Given the description of an element on the screen output the (x, y) to click on. 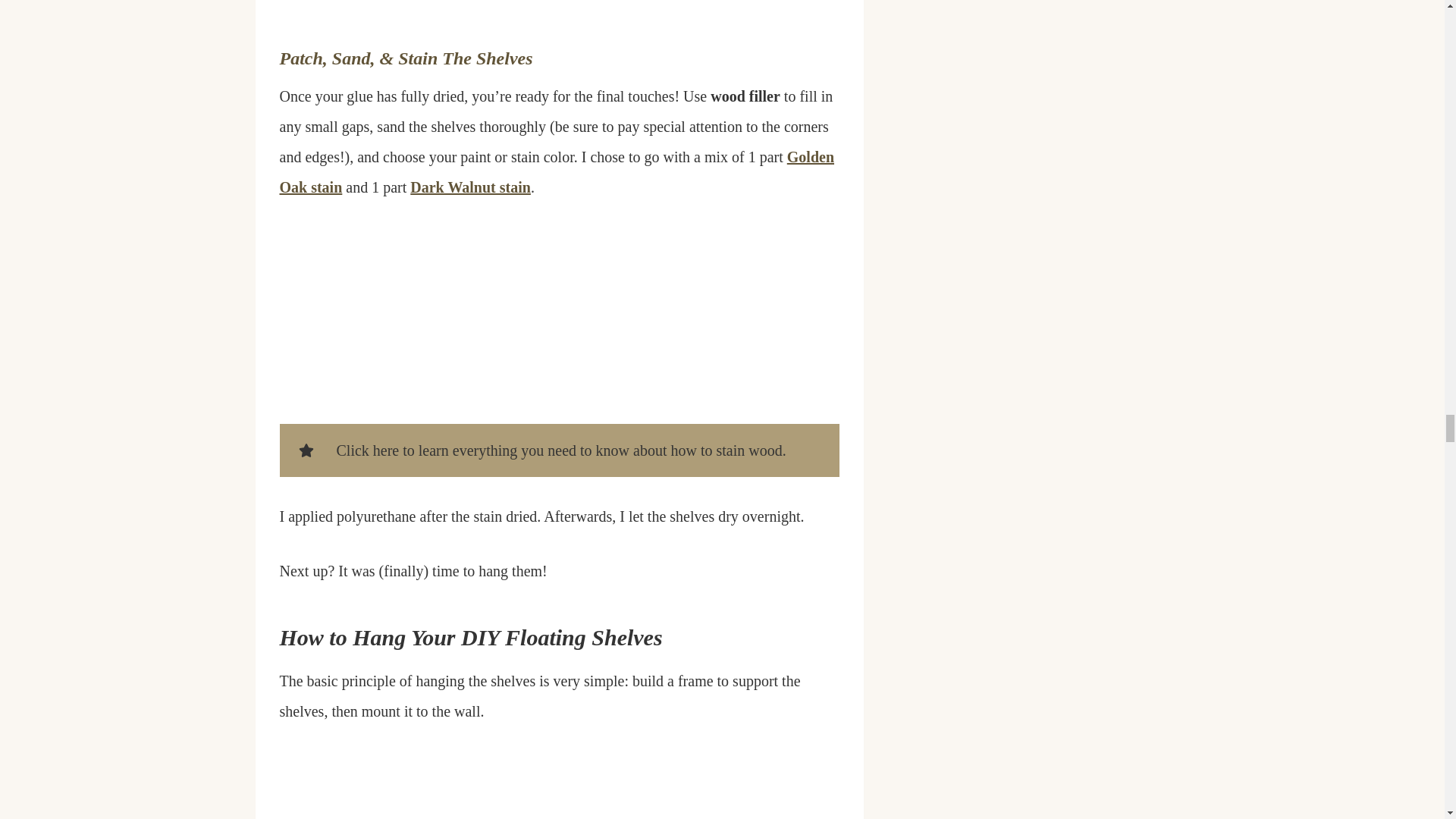
Dark Walnut stain (470, 187)
Golden Oak stain (556, 171)
